Given the description of an element on the screen output the (x, y) to click on. 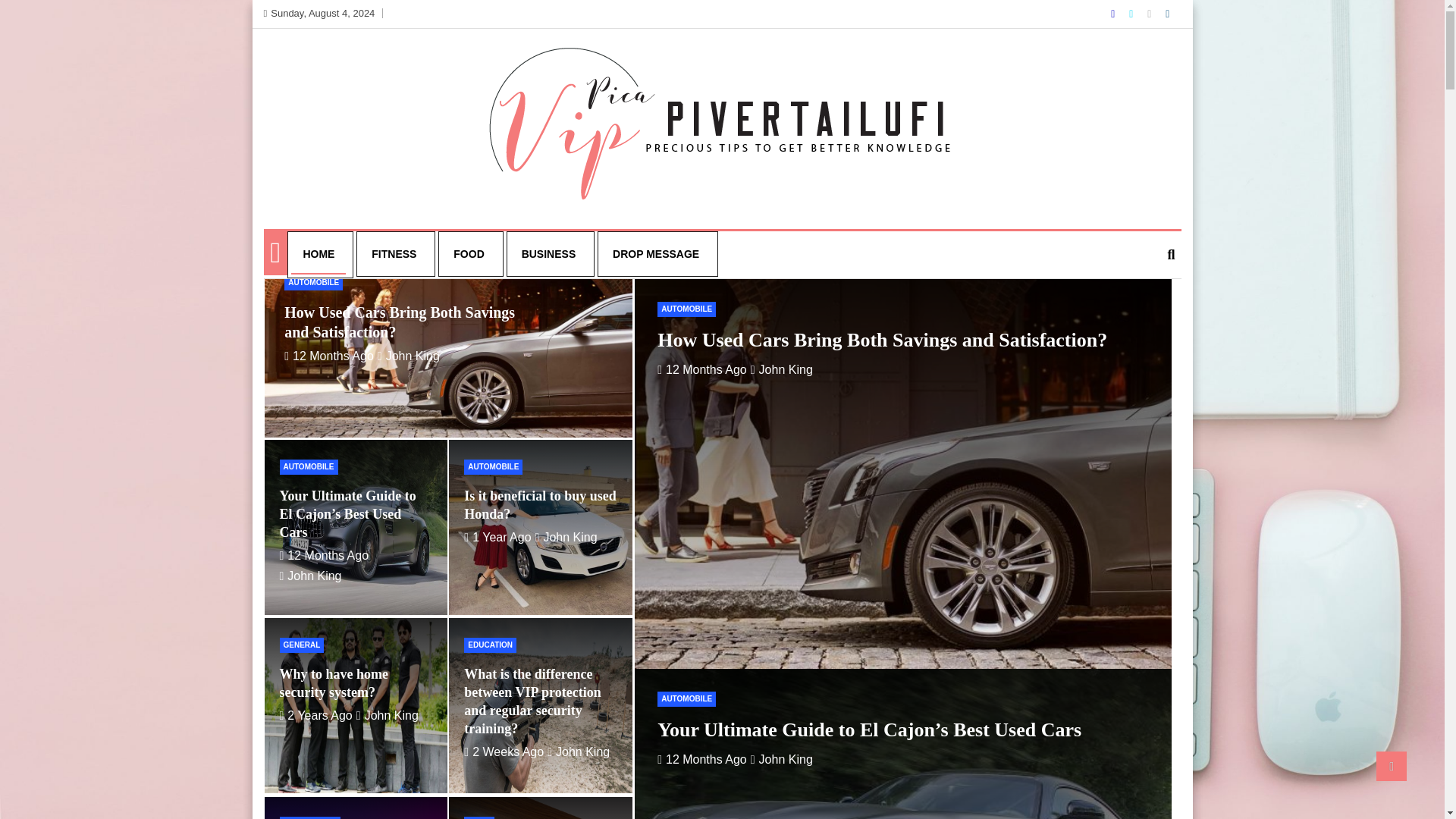
FOOD (468, 253)
AUTOMOBILE (308, 467)
GENERAL (301, 645)
2 Weeks Ago (503, 751)
TECHNOLOGY (309, 817)
John King (387, 715)
How Used Cars Bring Both Savings and Satisfaction? (399, 321)
John King (565, 536)
DROP MESSAGE (655, 253)
Why to have home security system? (333, 683)
How Used Cars Bring Both Savings and Satisfaction? (702, 369)
12 Months Ago (328, 355)
How Used Cars Bring Both Savings and Satisfaction? (328, 355)
Is it beneficial to buy used Honda? (497, 536)
